Given the description of an element on the screen output the (x, y) to click on. 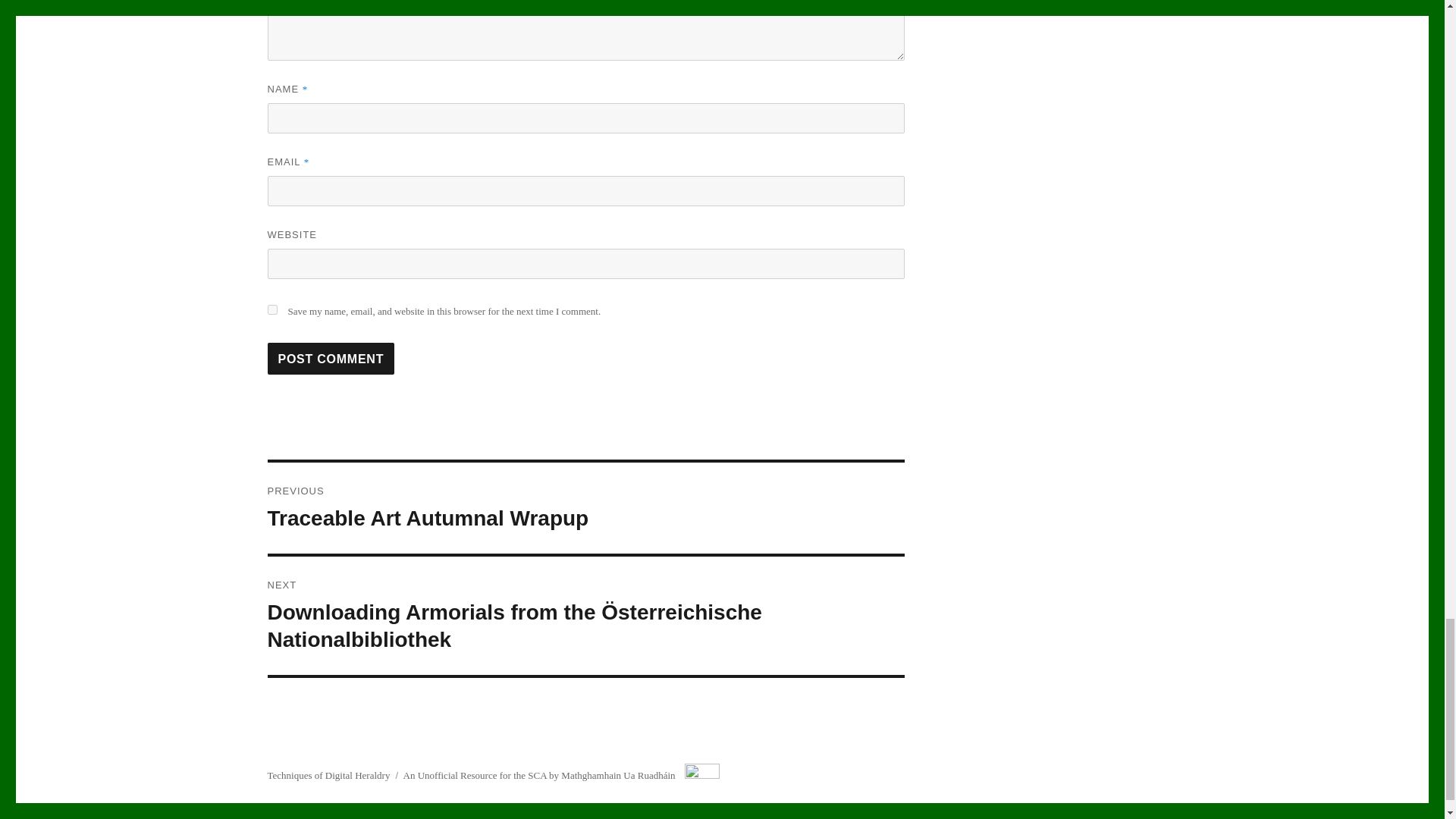
Post Comment (330, 358)
Techniques of Digital Heraldry (328, 775)
Post Comment (330, 358)
yes (271, 309)
